Given the description of an element on the screen output the (x, y) to click on. 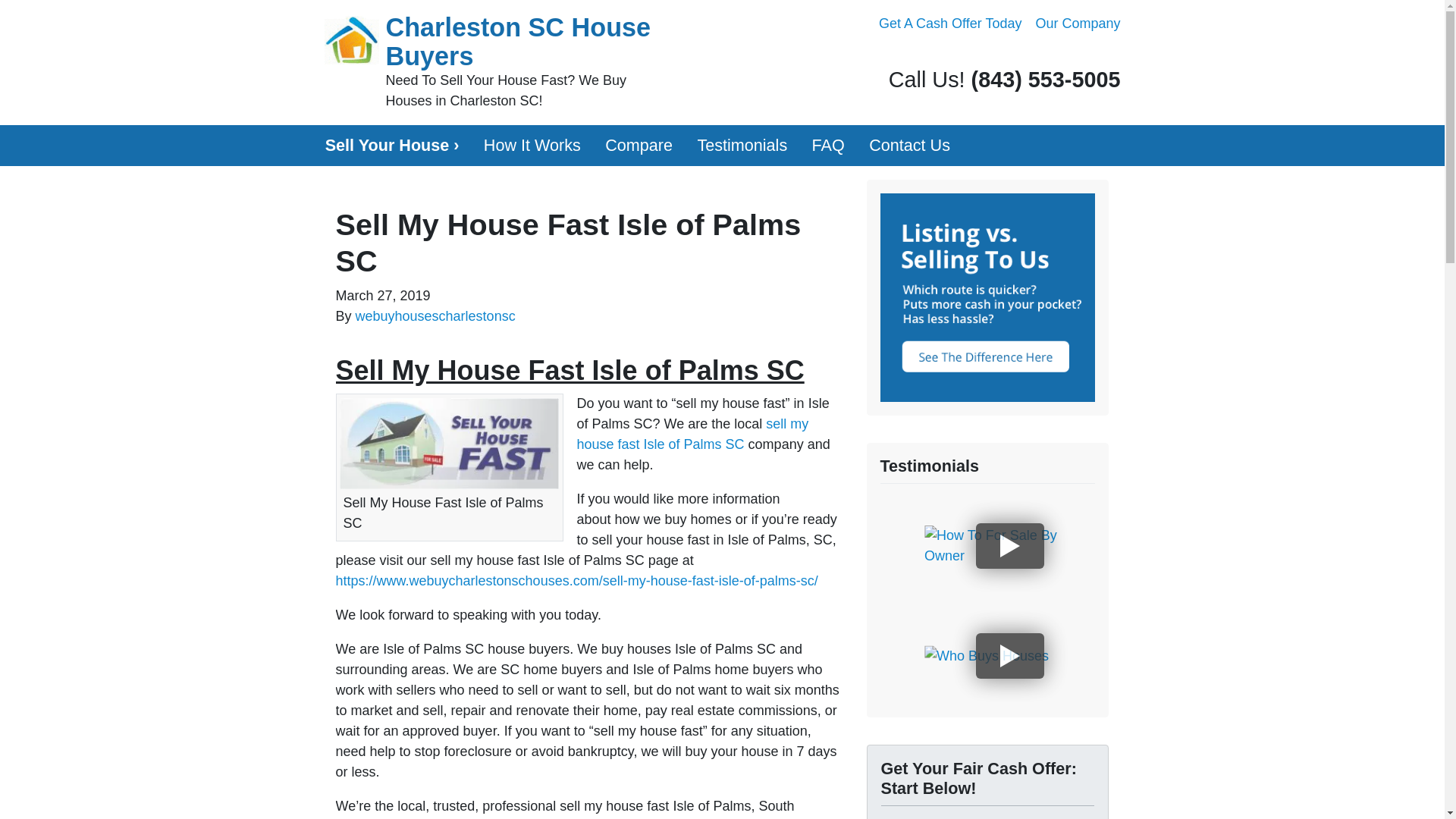
Testimonials (741, 145)
webuyhousescharlestonsc (435, 315)
Contact Us (909, 145)
How It Works (531, 145)
Contact Us (909, 145)
FAQ (828, 145)
YouTube (1068, 54)
Twitter (1026, 54)
FAQ (828, 145)
